Given the description of an element on the screen output the (x, y) to click on. 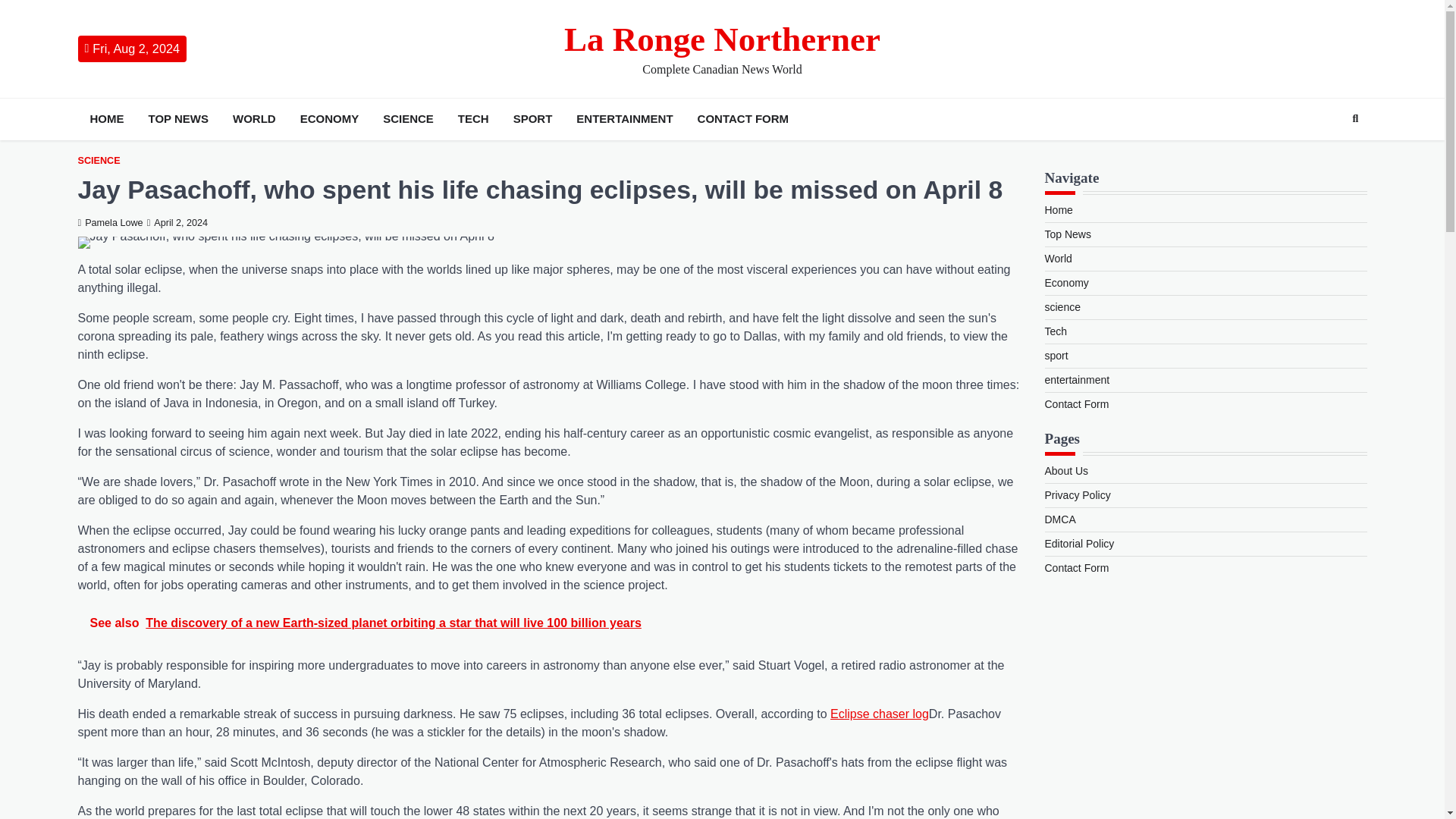
Home (1059, 209)
SCIENCE (98, 161)
ENTERTAINMENT (624, 118)
La Ronge Northerner (722, 39)
sport (1056, 355)
entertainment (1077, 379)
Eclipse chaser log (878, 713)
TECH (473, 118)
WORLD (254, 118)
Pamela Lowe (109, 222)
SPORT (532, 118)
Top News (1067, 234)
CONTACT FORM (742, 118)
TOP NEWS (178, 118)
Privacy Policy (1077, 494)
